Given the description of an element on the screen output the (x, y) to click on. 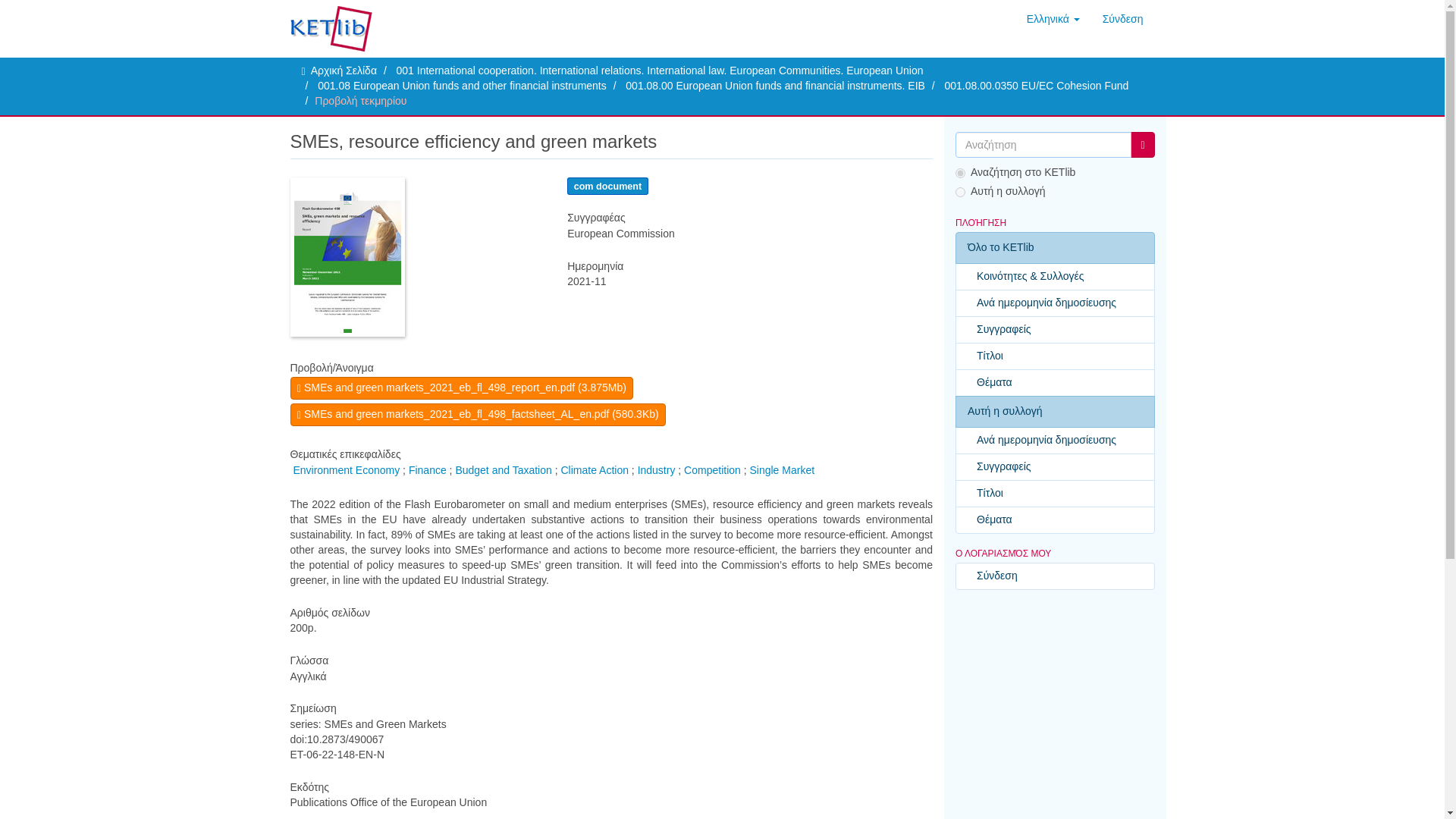
Finance (427, 469)
Environment Economy (345, 469)
Budget and Taxation (502, 469)
Climate Action (593, 469)
001.08 European Union funds and other financial instruments (462, 85)
Industry (656, 469)
Single Market (781, 469)
Competition (712, 469)
